Given the description of an element on the screen output the (x, y) to click on. 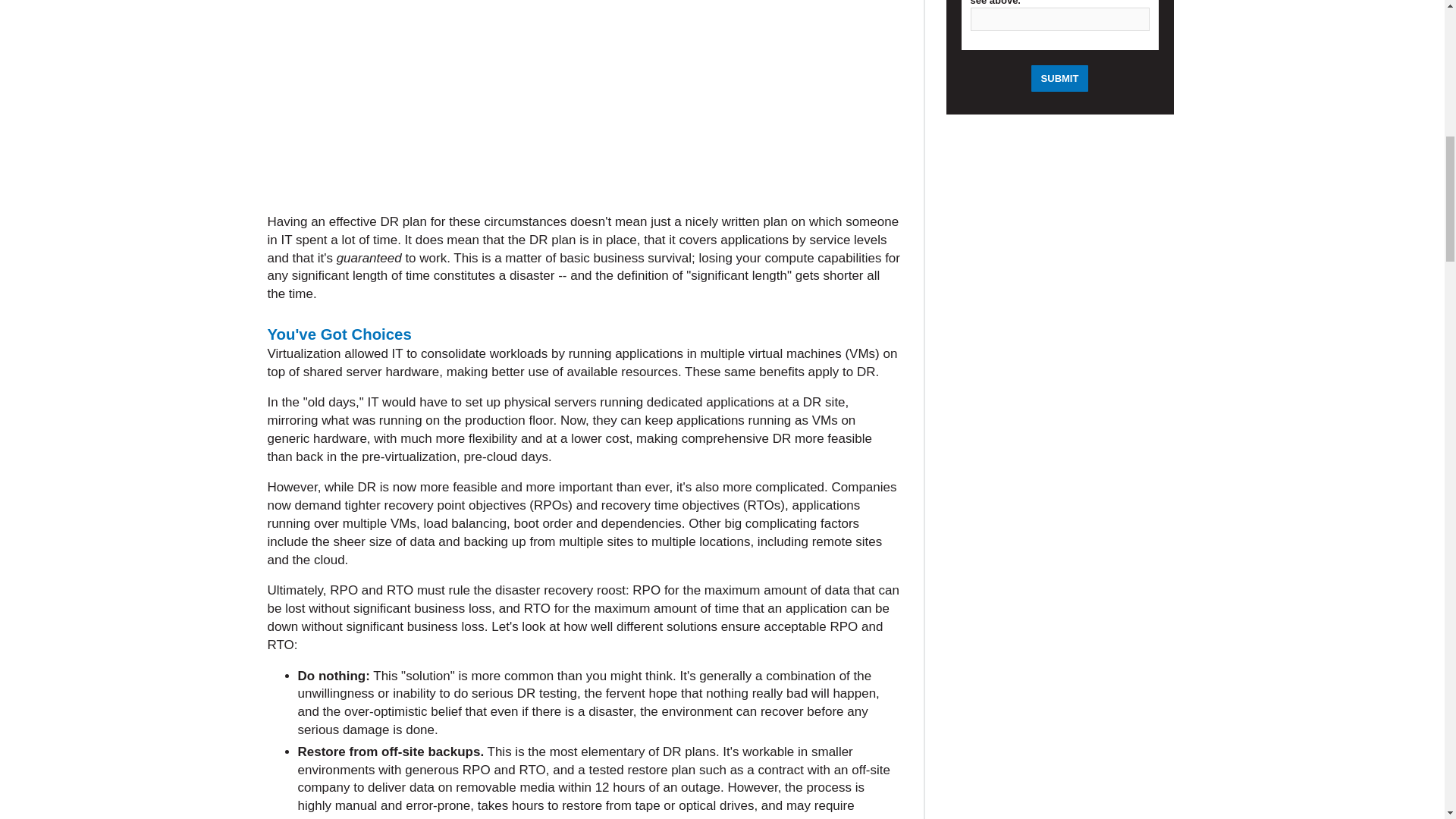
3rd party ad content (1059, 732)
Submit (1059, 78)
3rd party ad content (583, 104)
